Given the description of an element on the screen output the (x, y) to click on. 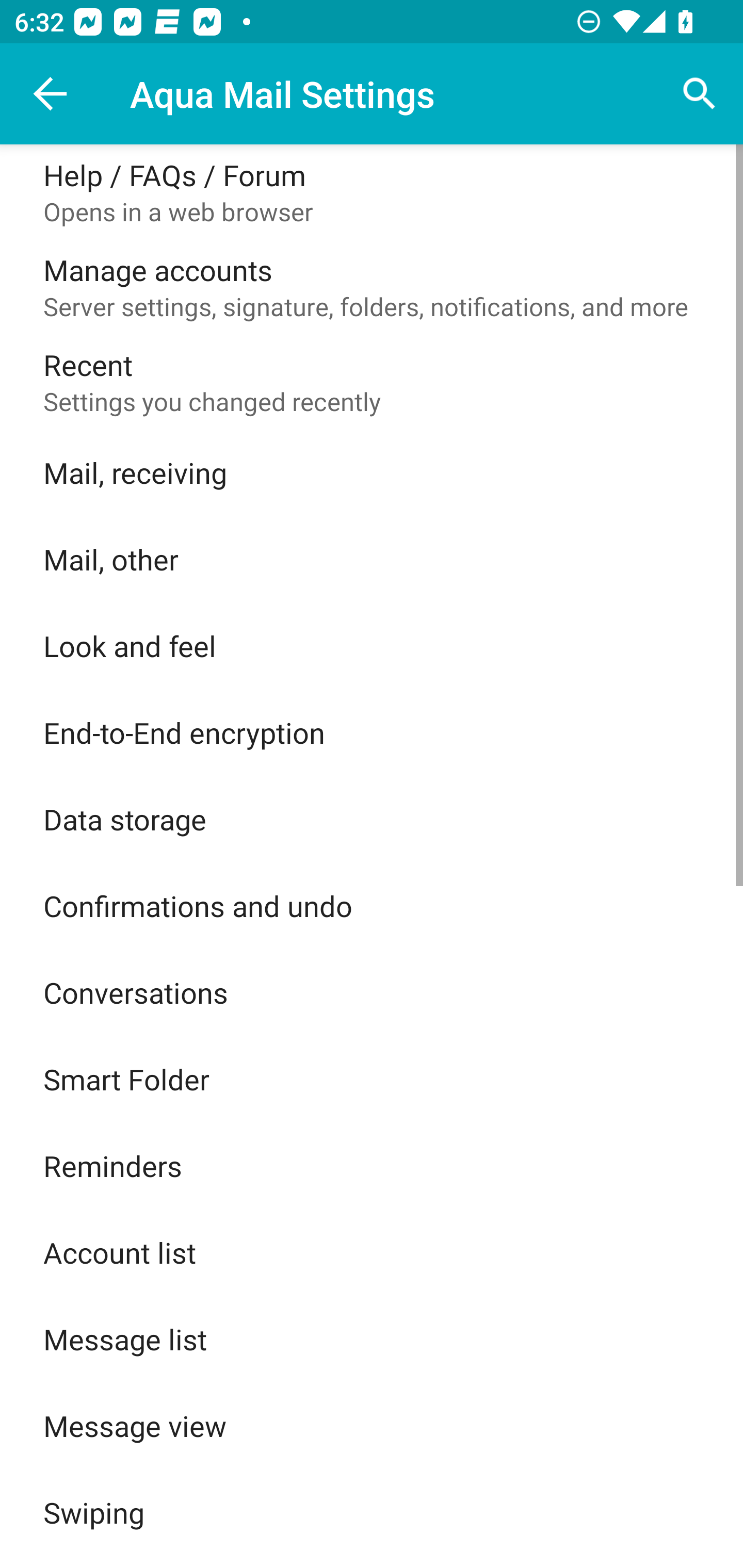
Navigate up (50, 93)
Search (699, 93)
Help / FAQs / Forum Opens in a web browser (371, 191)
Recent Settings you changed recently (371, 381)
Mail, receiving (371, 472)
Mail, other (371, 558)
Look and feel (371, 645)
End-to-End encryption (371, 732)
Data storage (371, 819)
Confirmations and undo (371, 905)
Conversations (371, 992)
Smart Folder (371, 1079)
Reminders (371, 1165)
Account list (371, 1251)
Message list (371, 1338)
Message view (371, 1425)
Swiping (371, 1512)
